Given the description of an element on the screen output the (x, y) to click on. 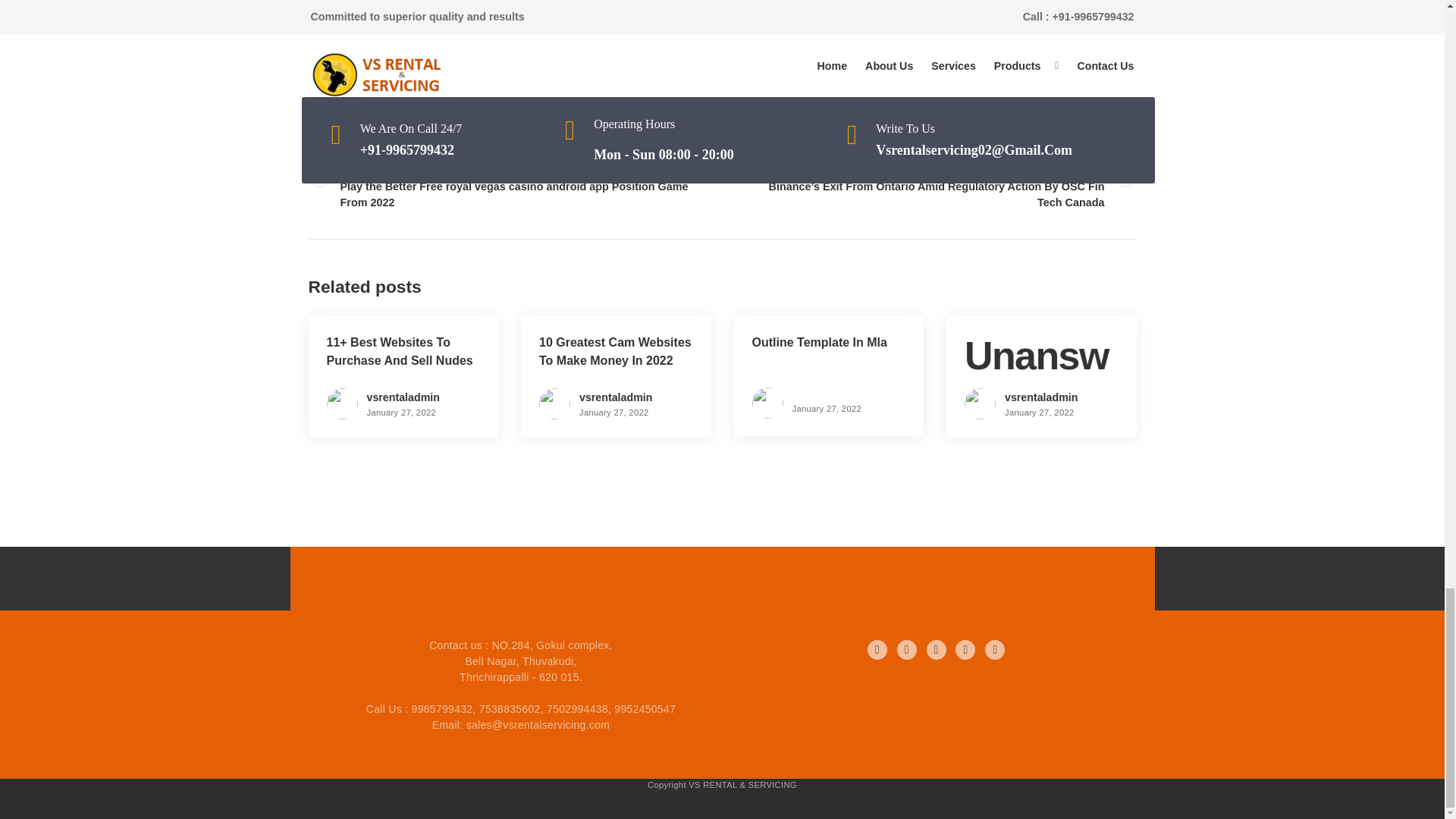
Outline Template In Mla (819, 341)
vsrentaladmin (402, 397)
Twitter (906, 649)
Posts by vsrentaladmin (402, 397)
Posts by vsrentaladmin (1040, 397)
vsrentaladmin (615, 397)
vsrentaladmin (1040, 397)
Facebook (876, 649)
Linked In (936, 649)
